Given the description of an element on the screen output the (x, y) to click on. 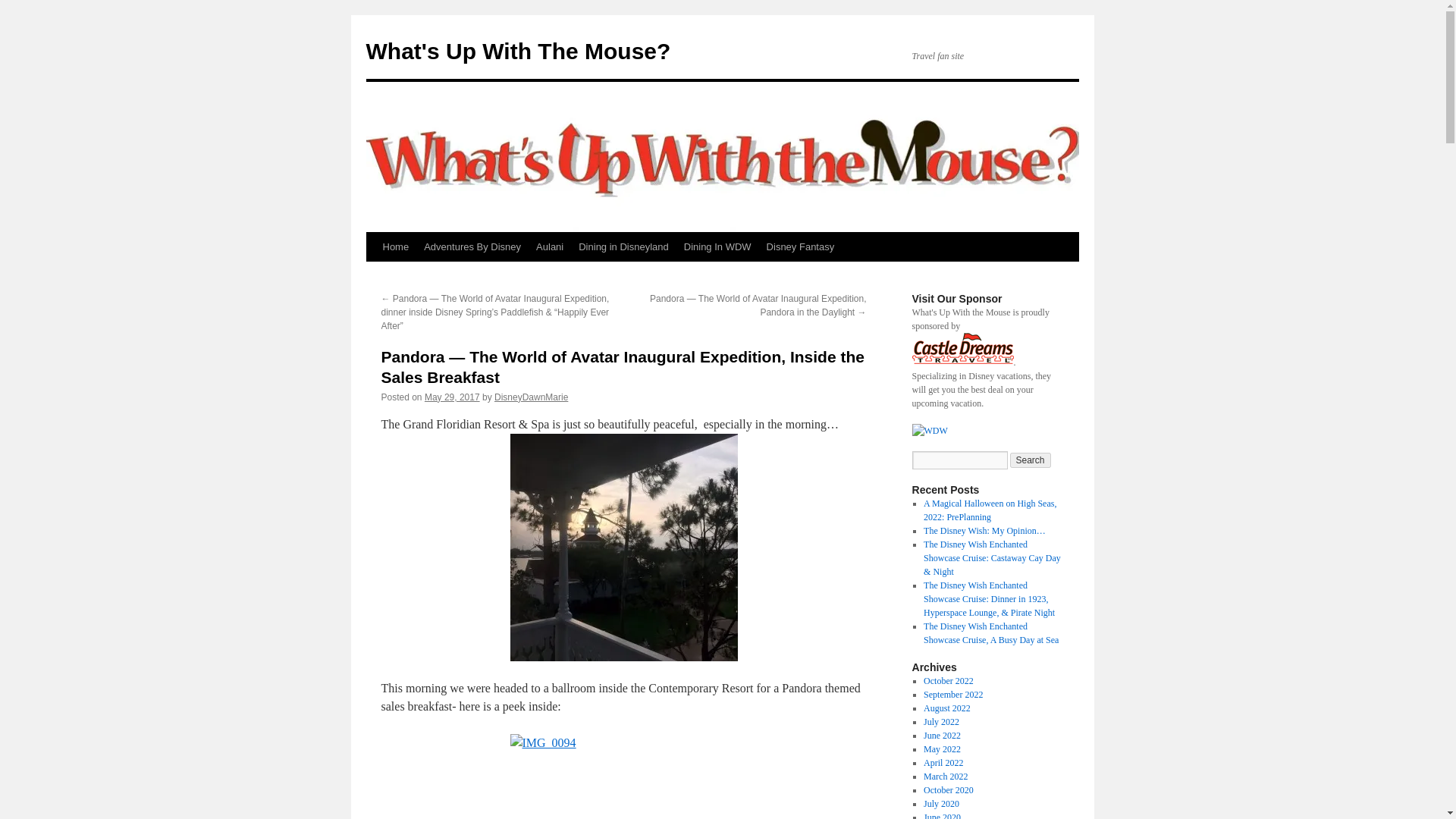
DisneyDawnMarie (531, 397)
May 29, 2017 (452, 397)
Search (1030, 459)
Adventures By Disney (472, 246)
Disney Fantasy (800, 246)
Aulani (549, 246)
Dining In WDW (717, 246)
Dining in Disneyland (623, 246)
What's Up With The Mouse? (517, 50)
What's Up With The Mouse? (517, 50)
View all posts by DisneyDawnMarie (531, 397)
Home (395, 246)
7:00 am (452, 397)
